Given the description of an element on the screen output the (x, y) to click on. 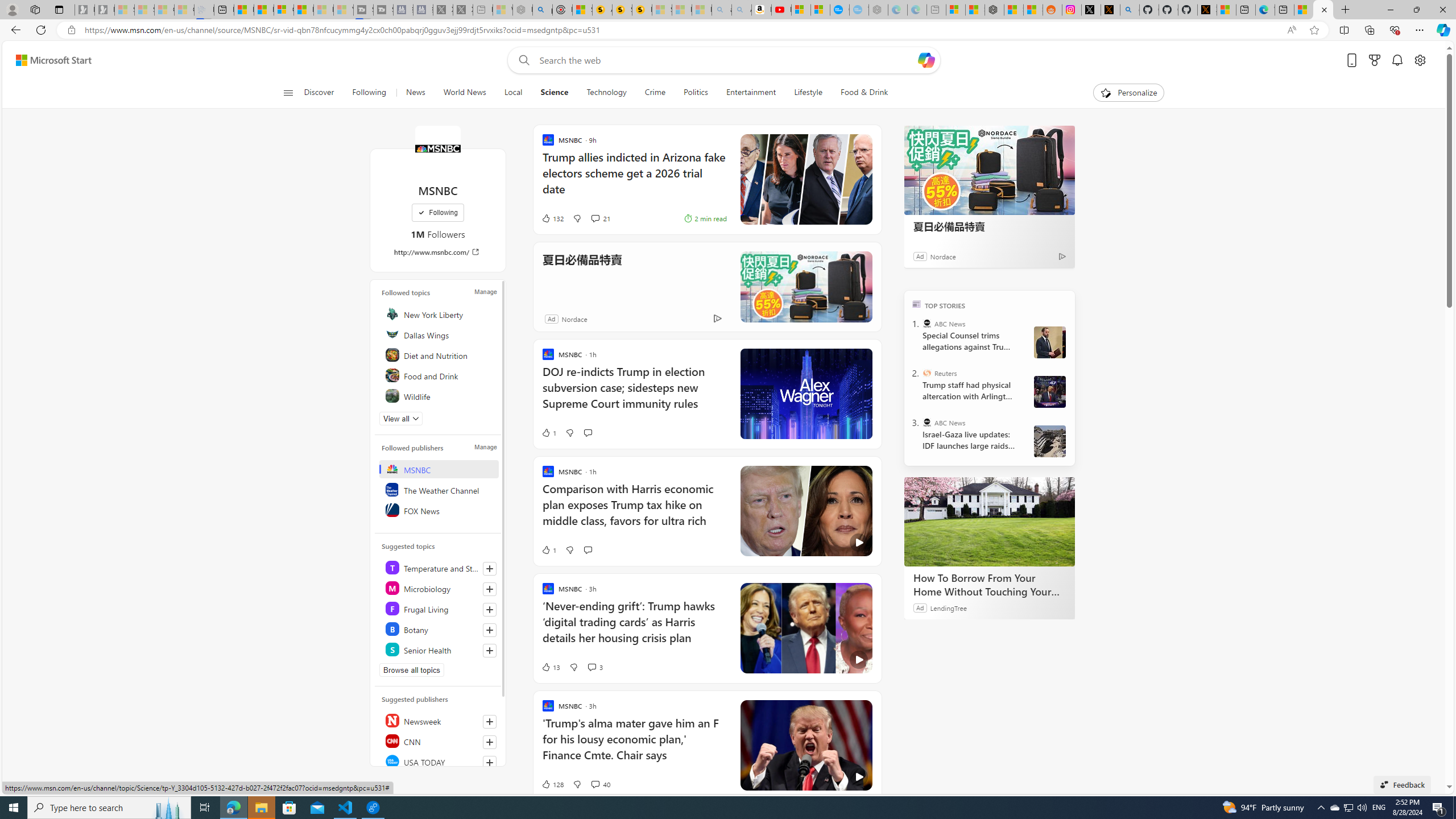
Follow this source (489, 762)
Science (554, 92)
FOX News (439, 510)
Entertainment (750, 92)
Manage (485, 447)
Reuters (927, 372)
